Given the description of an element on the screen output the (x, y) to click on. 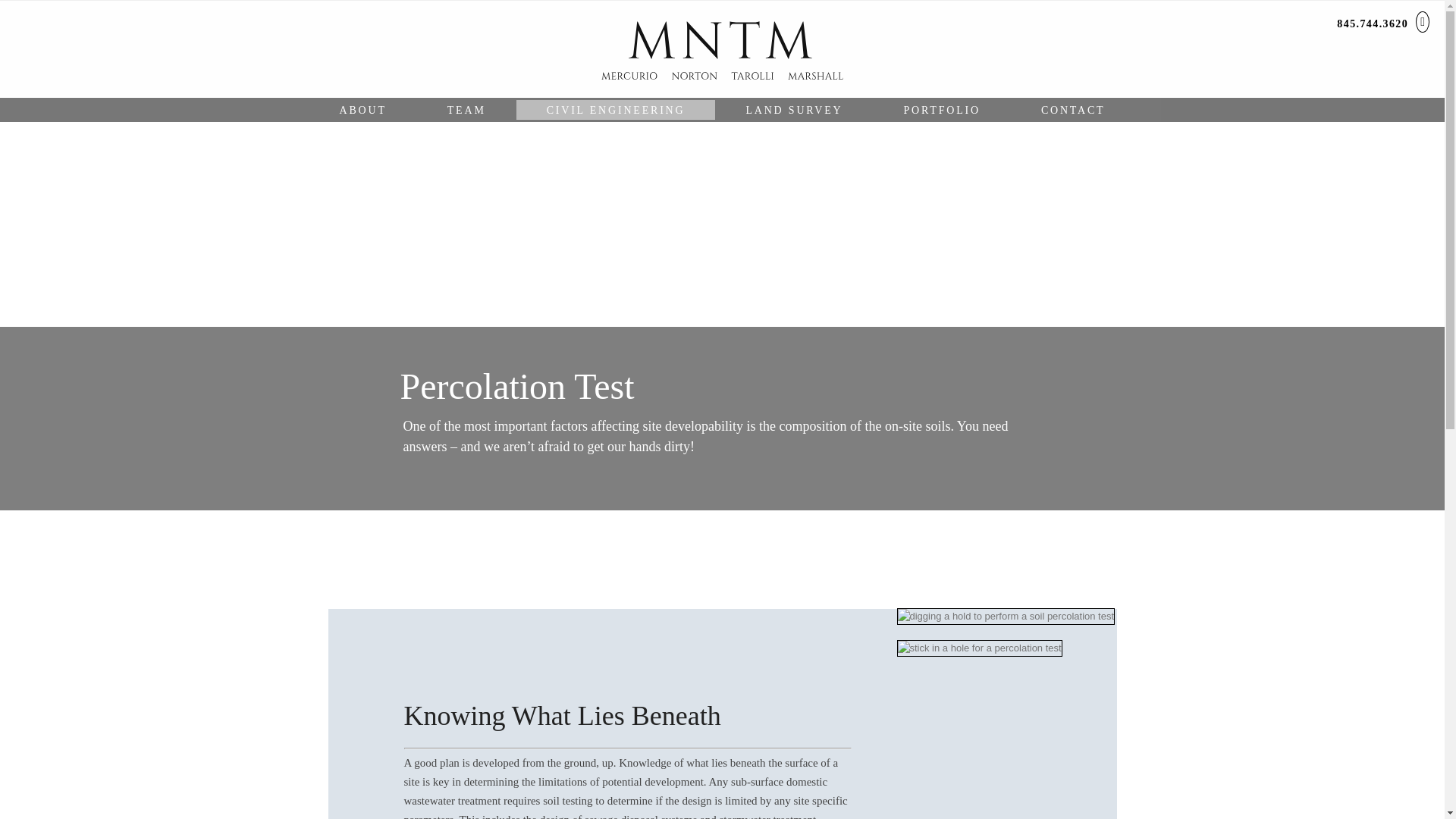
CIVIL ENGINEERING (615, 110)
CONTACT (1073, 110)
845.744.3620 (1371, 23)
PORTFOLIO (941, 110)
TEAM (466, 110)
ABOUT (362, 110)
LAND SURVEY (793, 110)
